Given the description of an element on the screen output the (x, y) to click on. 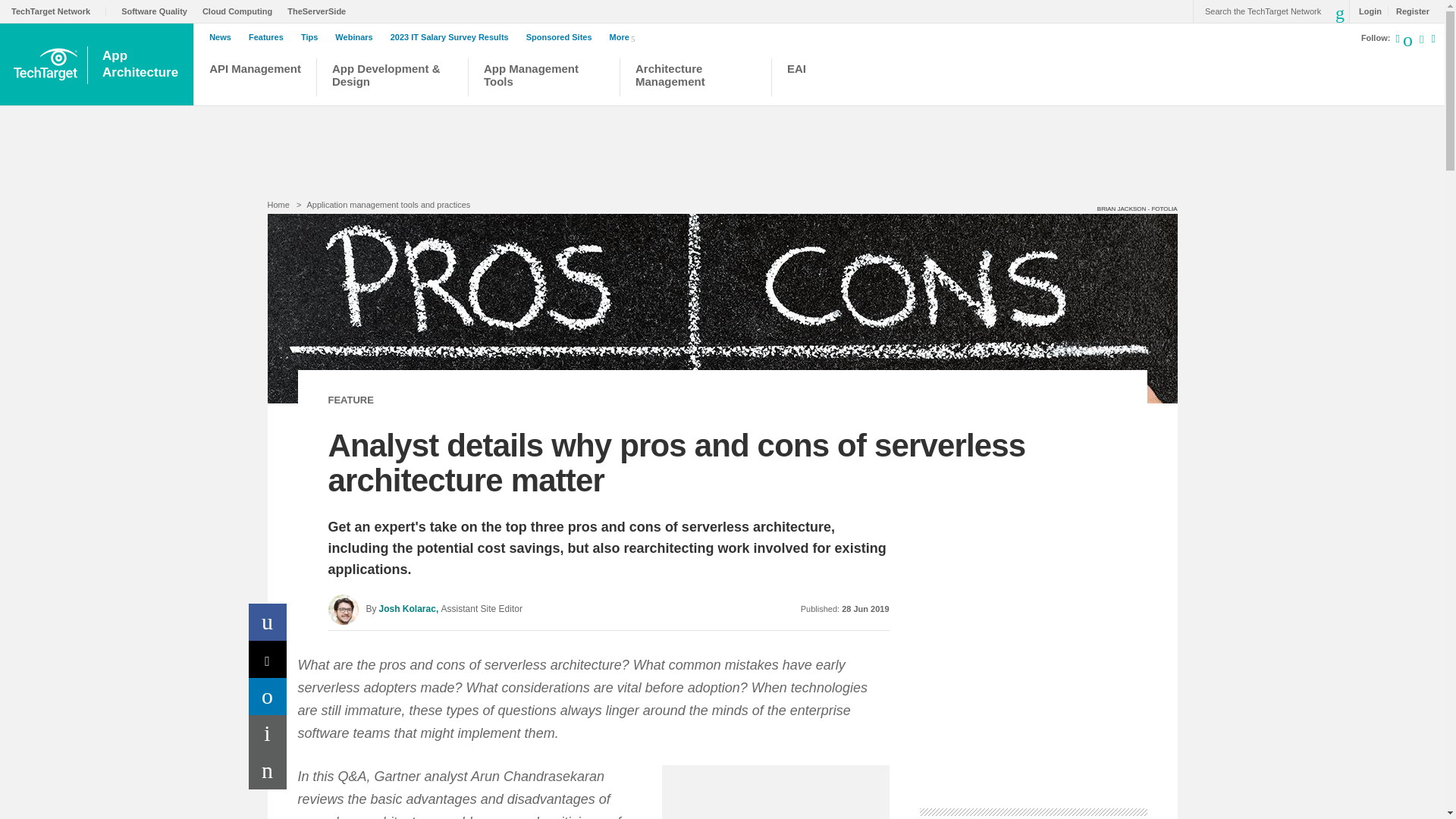
TechTarget Network (58, 10)
Share on Facebook (267, 621)
Share on LinkedIn (267, 696)
EAI (828, 79)
Tips (312, 36)
Print This Page (267, 733)
Webinars (357, 36)
Register (1408, 10)
Features (269, 36)
Sponsored Sites (562, 36)
